Given the description of an element on the screen output the (x, y) to click on. 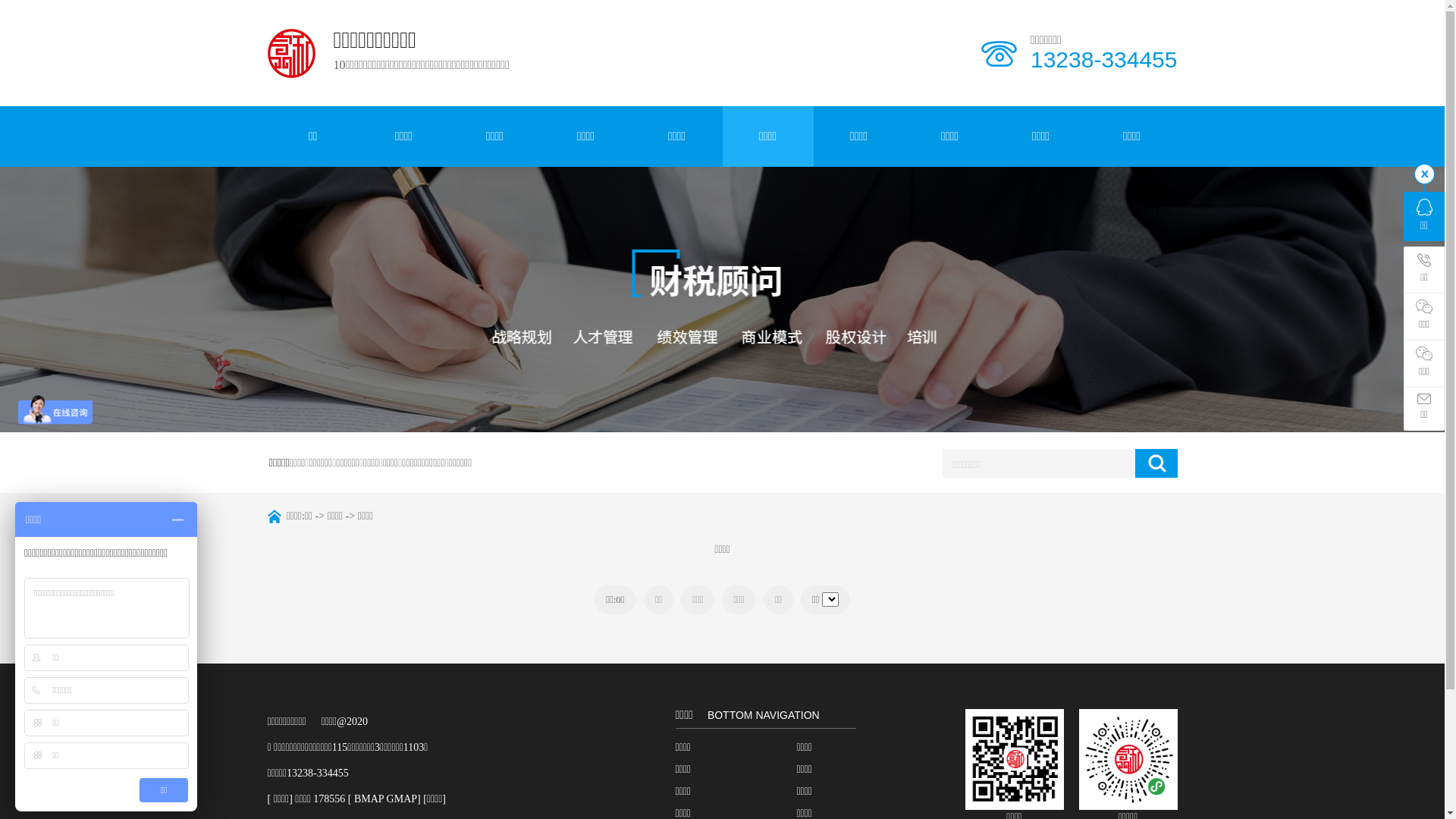
GMAP Element type: text (401, 798)
BMAP Element type: text (368, 798)
